Given the description of an element on the screen output the (x, y) to click on. 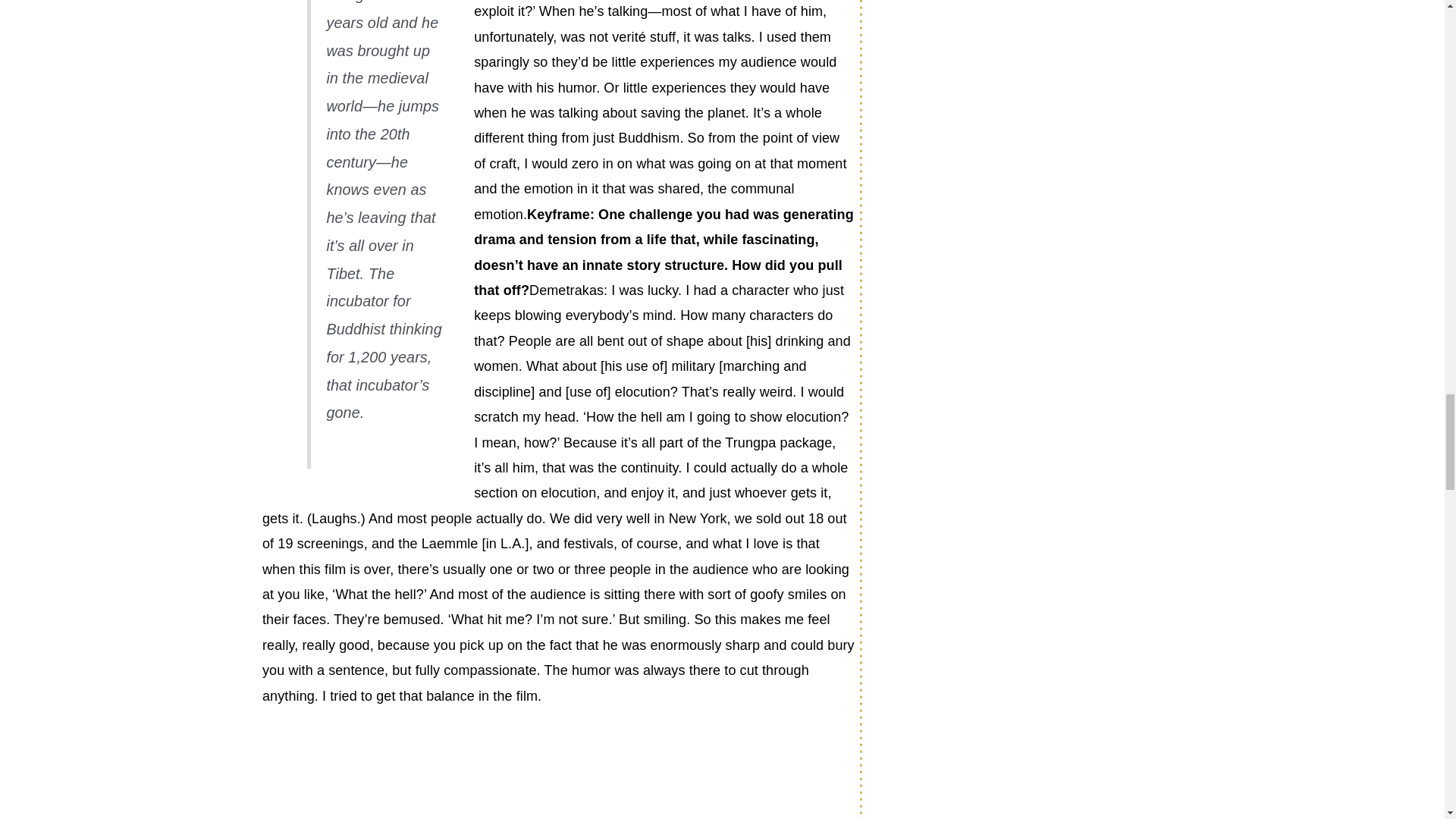
crazy3 (375, 776)
